Given the description of an element on the screen output the (x, y) to click on. 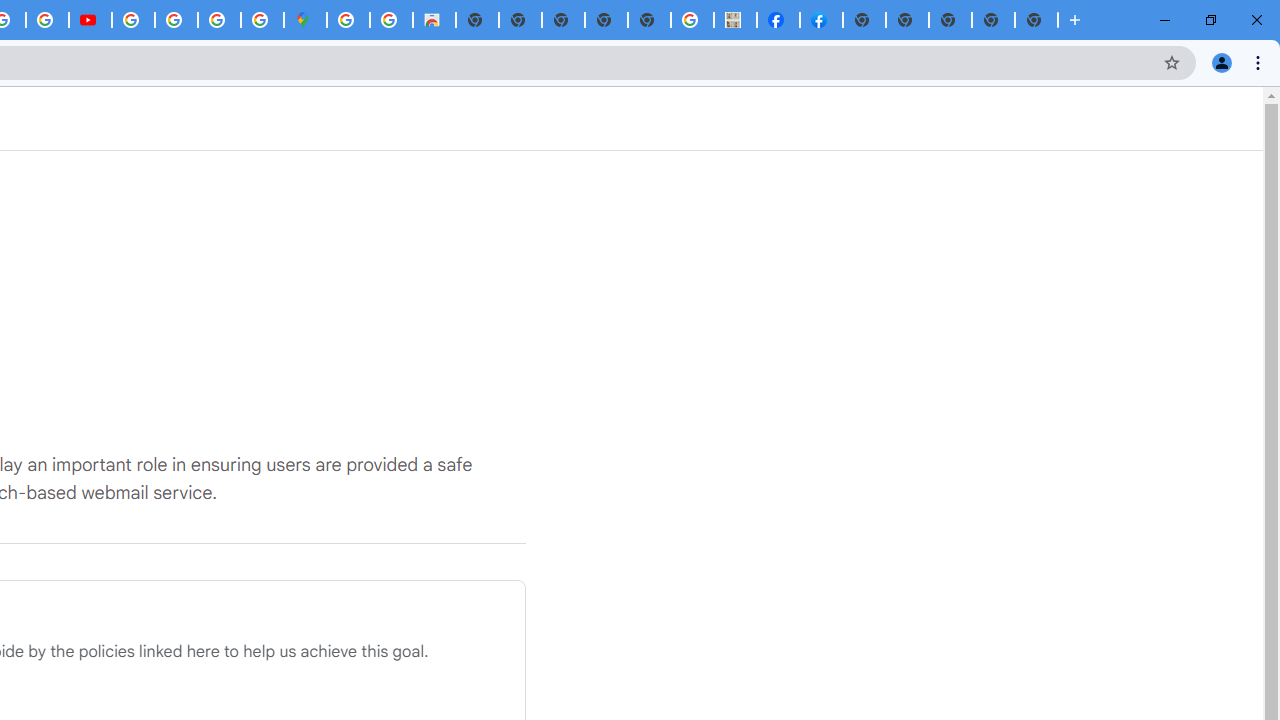
How Chrome protects your passwords - Google Chrome Help (132, 20)
Chrome Web Store - Shopping (434, 20)
Sign Up for Facebook (821, 20)
New Tab (864, 20)
New Tab (950, 20)
New Tab (1036, 20)
